Given the description of an element on the screen output the (x, y) to click on. 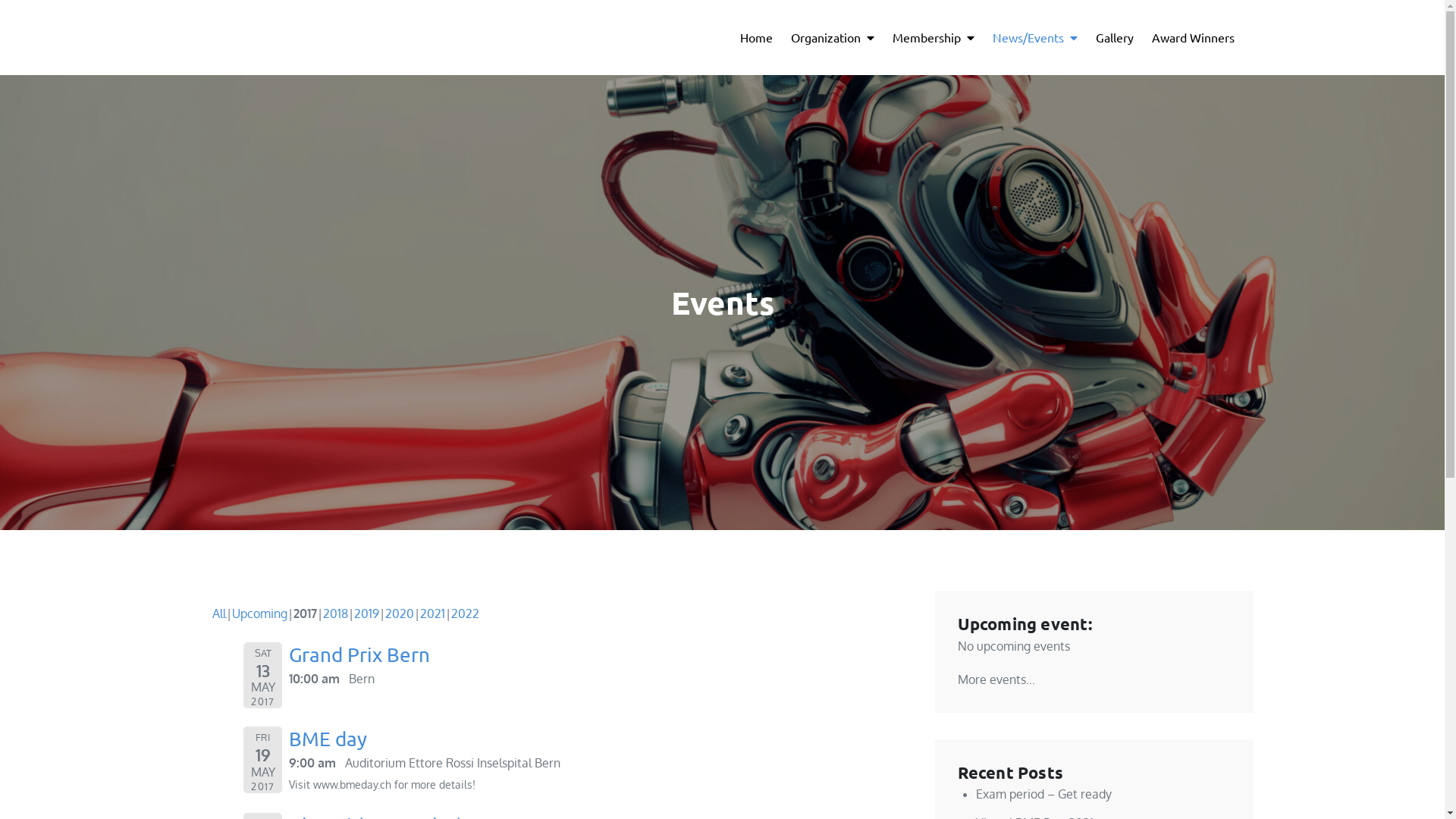
BME day Element type: text (327, 738)
2019 Element type: text (365, 613)
All Element type: text (218, 613)
Award Winners Element type: text (1192, 37)
2021 Element type: text (432, 613)
Organization Element type: text (831, 37)
More events... Element type: text (995, 679)
Membership Element type: text (932, 37)
Grand Prix Bern Element type: text (358, 654)
2022 Element type: text (464, 613)
News/Events Element type: text (1034, 37)
2018 Element type: text (335, 613)
Upcoming Element type: text (259, 613)
2020 Element type: text (399, 613)
Gallery Element type: text (1113, 37)
Home Element type: text (756, 37)
